Given the description of an element on the screen output the (x, y) to click on. 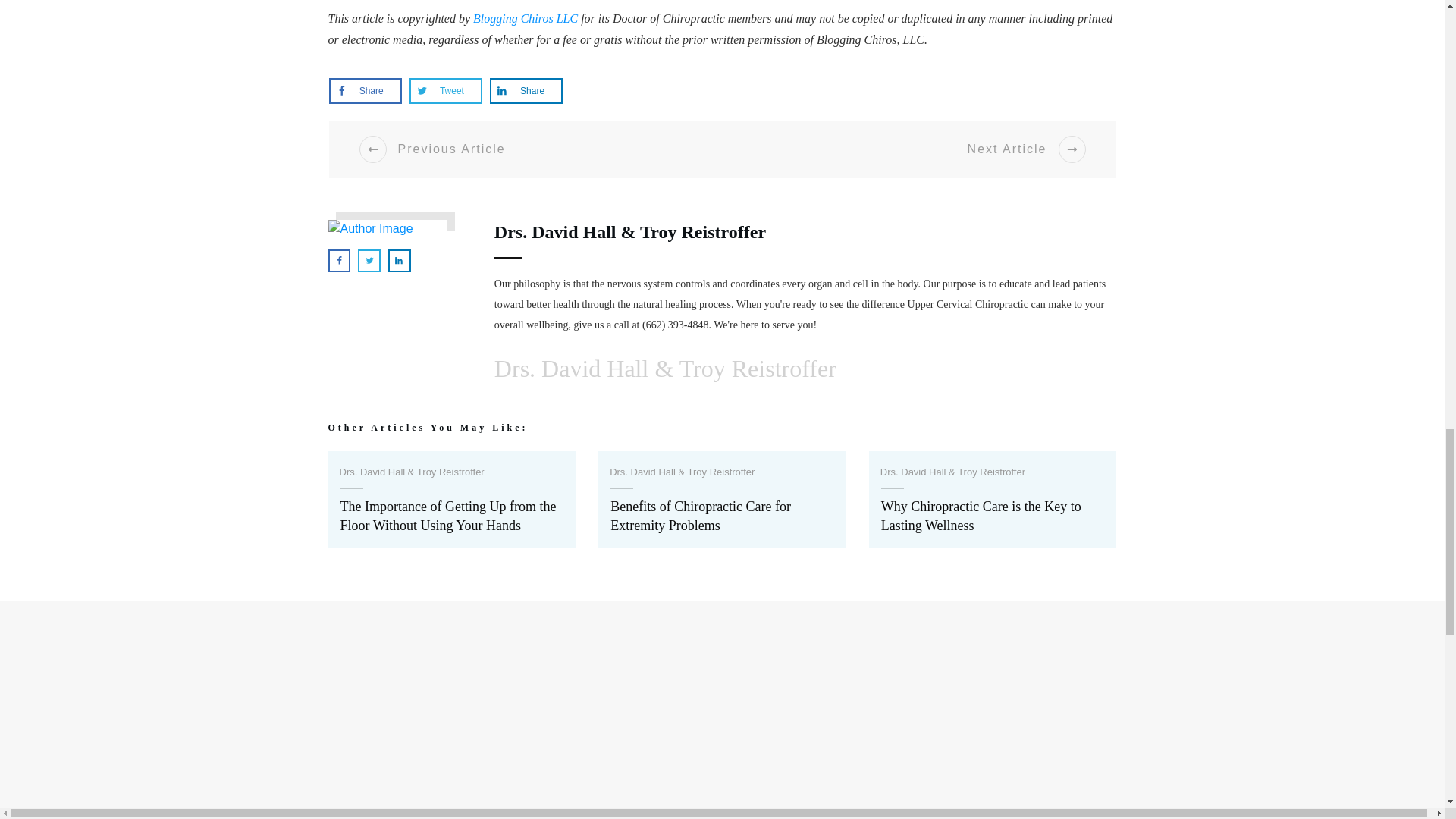
Previous Article (532, 149)
Next Article (925, 149)
Blogging Chiros LLC (525, 18)
Tweet (445, 90)
Share (526, 90)
Benefits of Chiropractic Care for Extremity Problems (721, 499)
Share (365, 90)
